Given the description of an element on the screen output the (x, y) to click on. 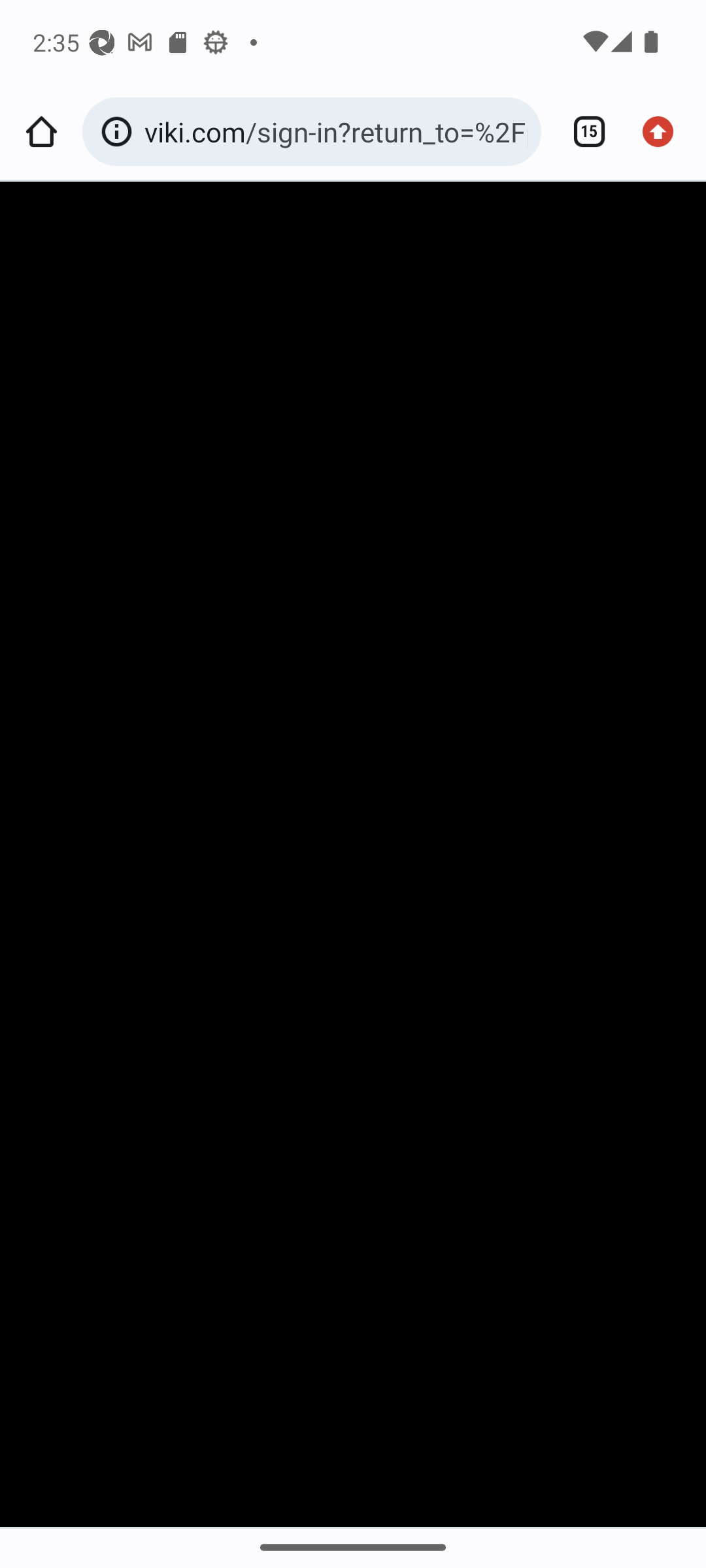
Home (41, 131)
Your connection to this site is not secure (120, 131)
Switch or close tabs (582, 131)
Update available. More options (664, 131)
viki.com/sign-in?return_to=%2Fpass%23plans (335, 131)
